Given the description of an element on the screen output the (x, y) to click on. 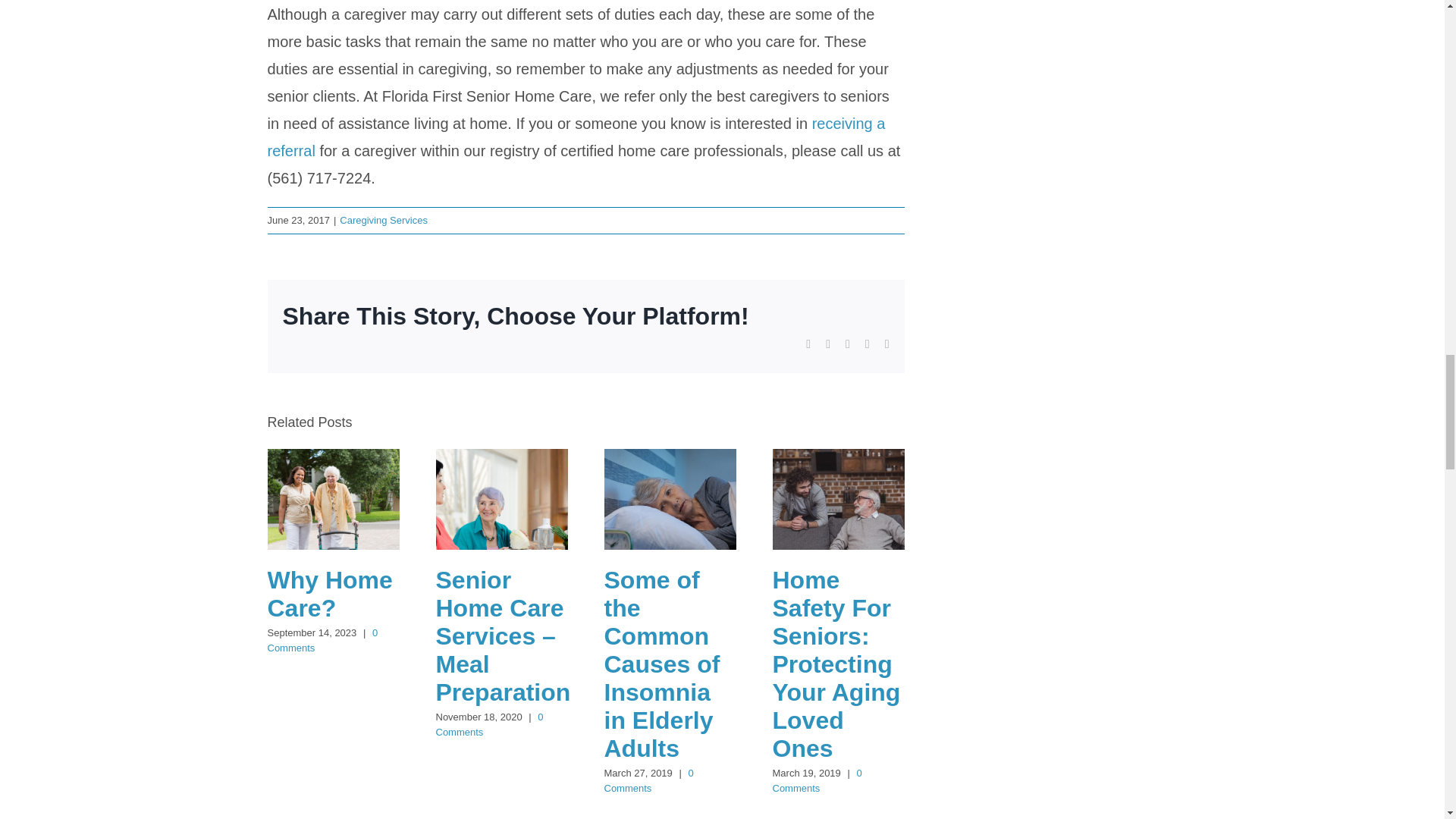
receiving a referral (575, 136)
Caregiving Services (383, 220)
Why Home Care? (328, 593)
